Given the description of an element on the screen output the (x, y) to click on. 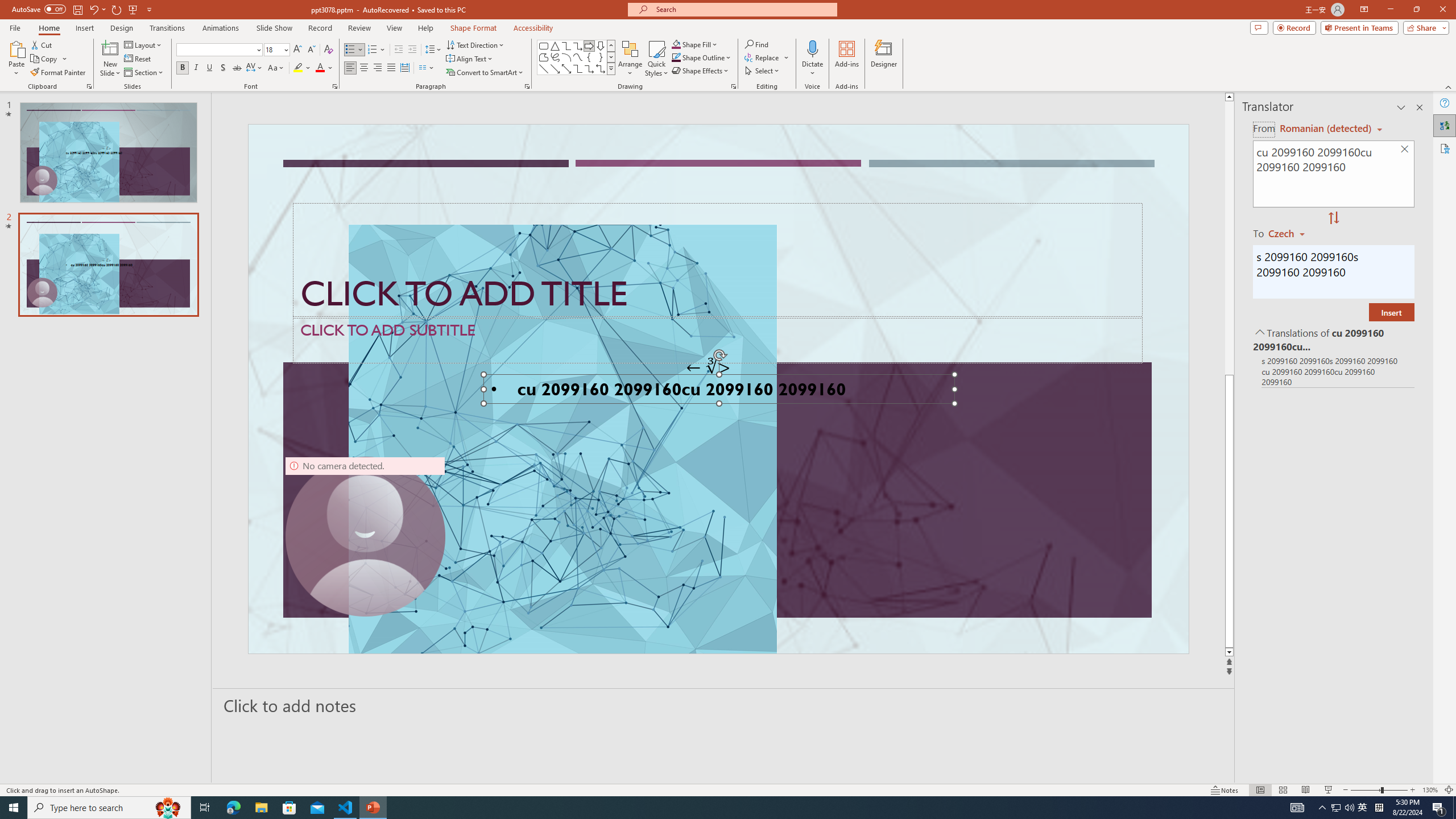
TextBox 7 (708, 367)
An abstract genetic concept (718, 388)
